Given the description of an element on the screen output the (x, y) to click on. 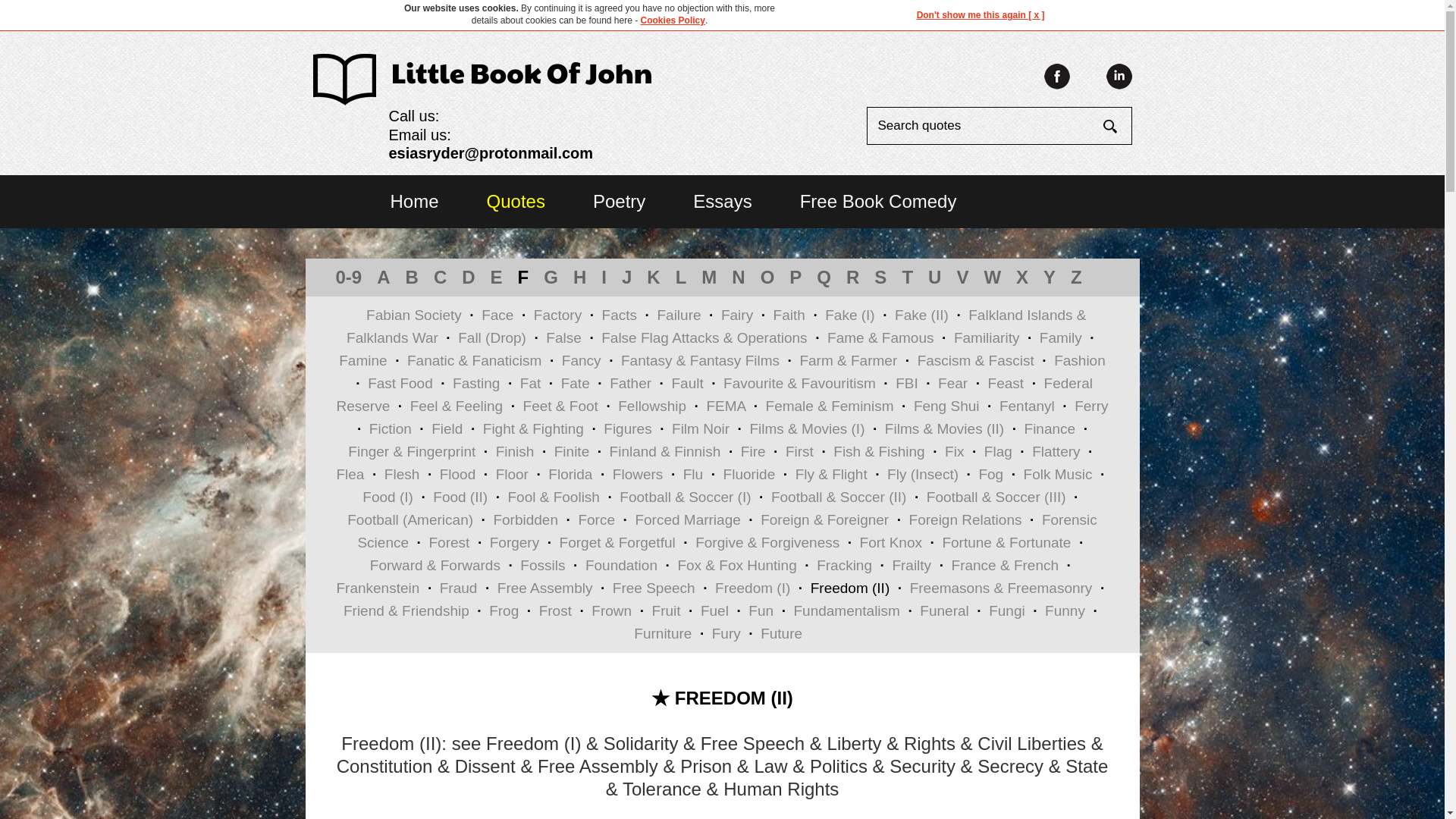
Home (414, 200)
Essays (722, 200)
Poetry (618, 200)
Free Book Comedy (877, 200)
Search quotes (983, 126)
Quotes (515, 200)
